Given the description of an element on the screen output the (x, y) to click on. 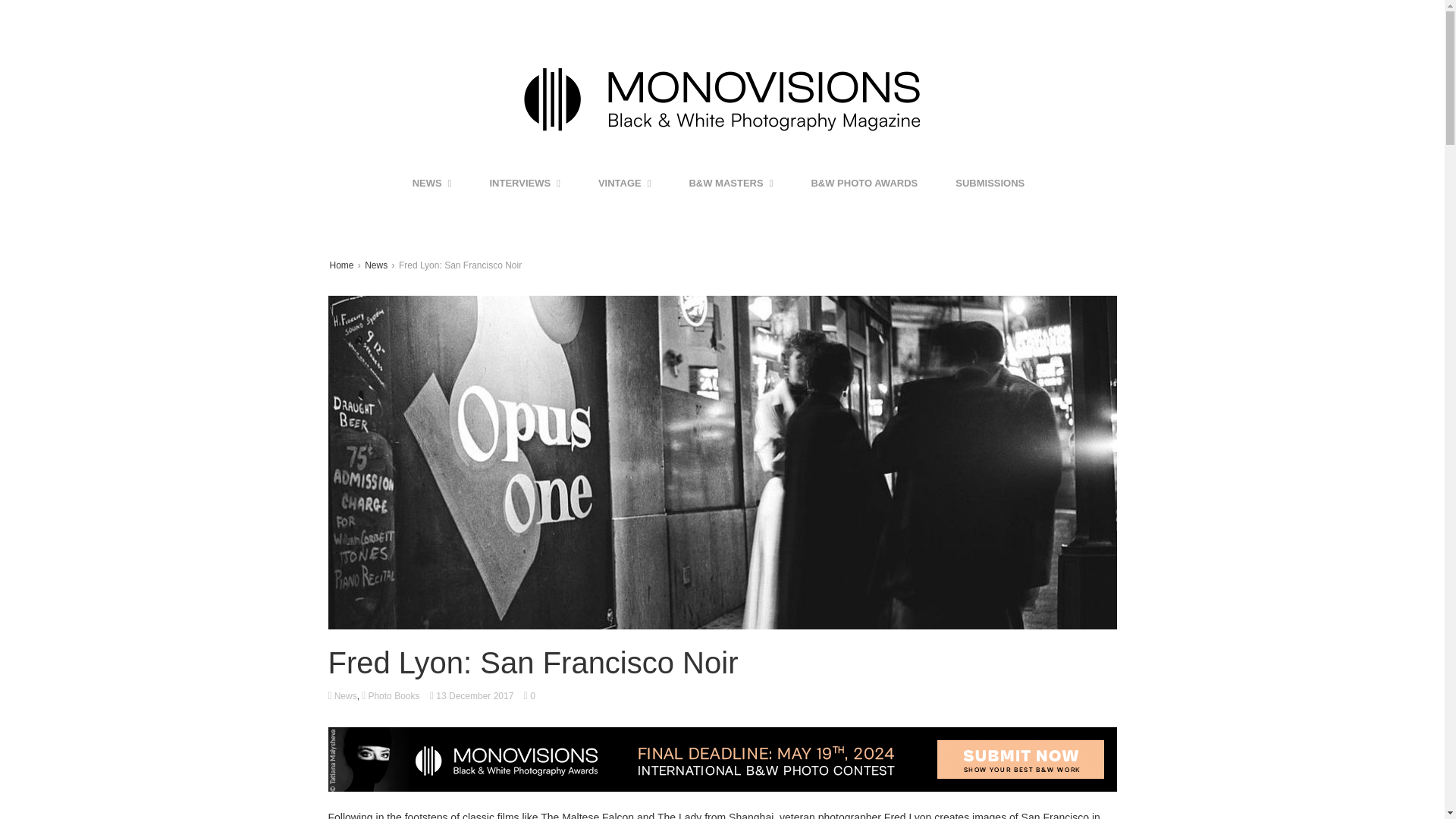
NEWS (432, 183)
VINTAGE (624, 183)
INTERVIEWS (524, 183)
